Given the description of an element on the screen output the (x, y) to click on. 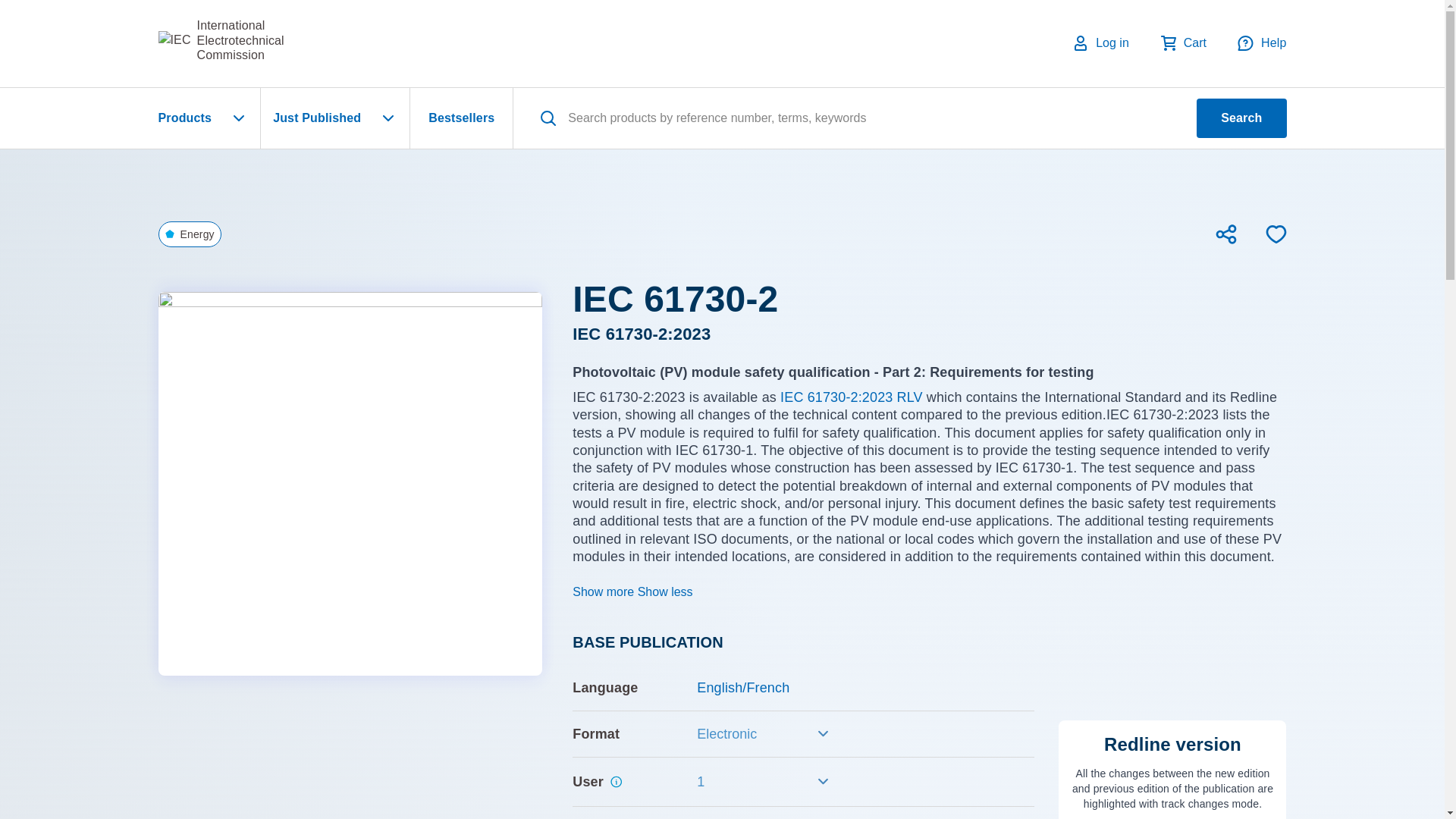
Cart (1182, 42)
Log in (1100, 43)
Cart (220, 40)
Help (1182, 42)
